Given the description of an element on the screen output the (x, y) to click on. 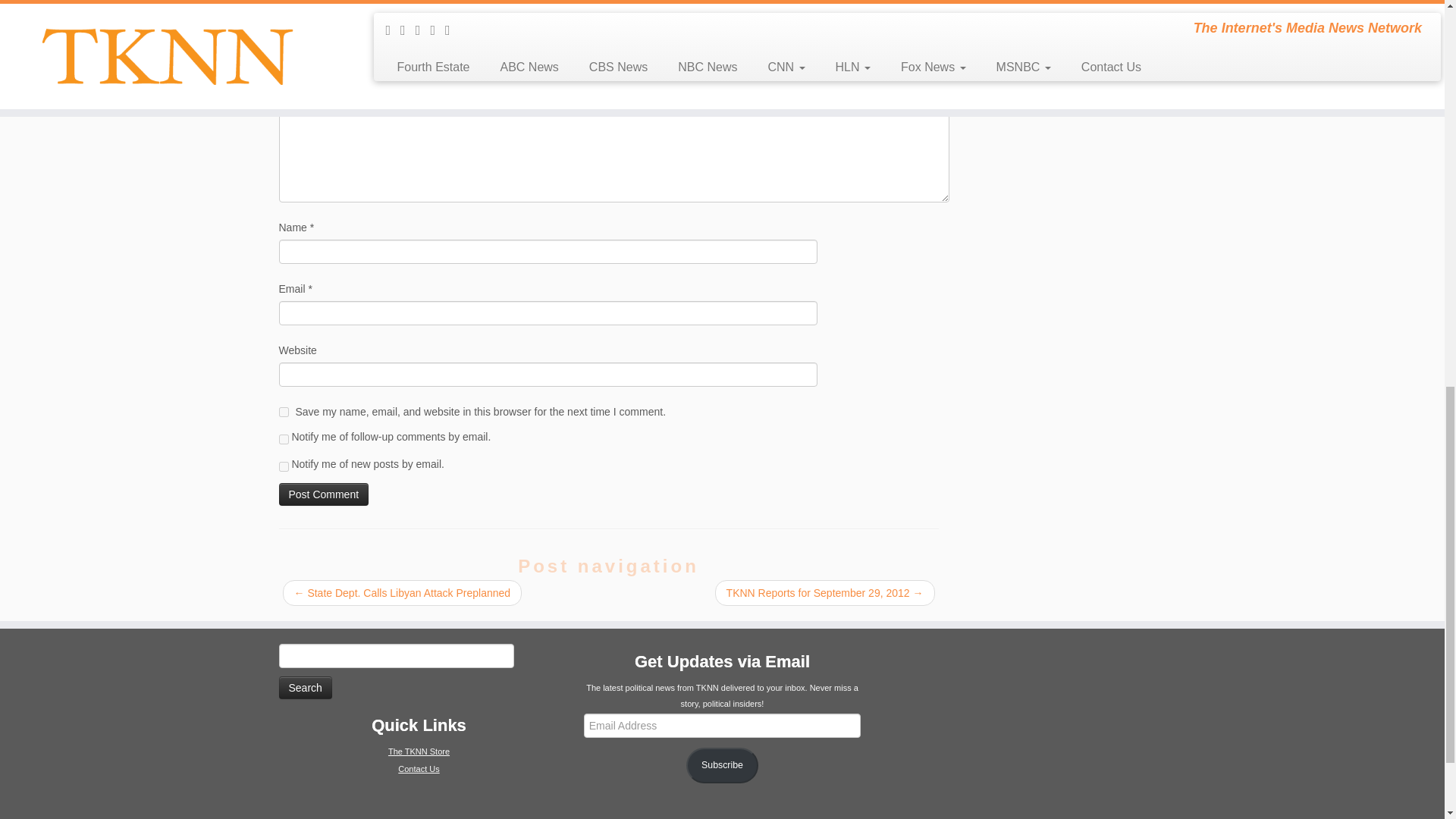
Post Comment (324, 494)
yes (283, 411)
Search (305, 687)
Post Comment (324, 494)
subscribe (283, 439)
subscribe (283, 466)
